Given the description of an element on the screen output the (x, y) to click on. 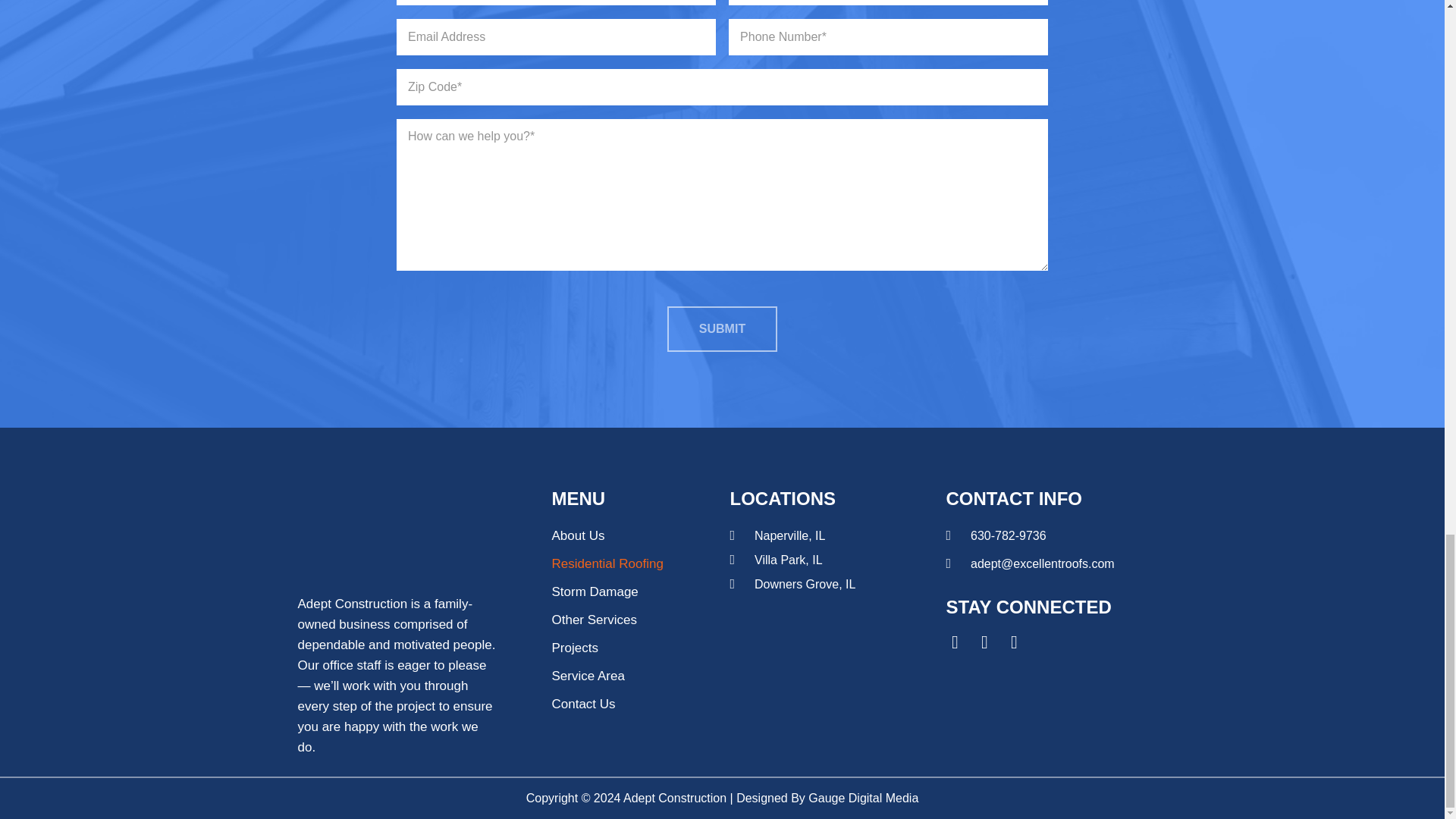
Submit (721, 329)
